Given the description of an element on the screen output the (x, y) to click on. 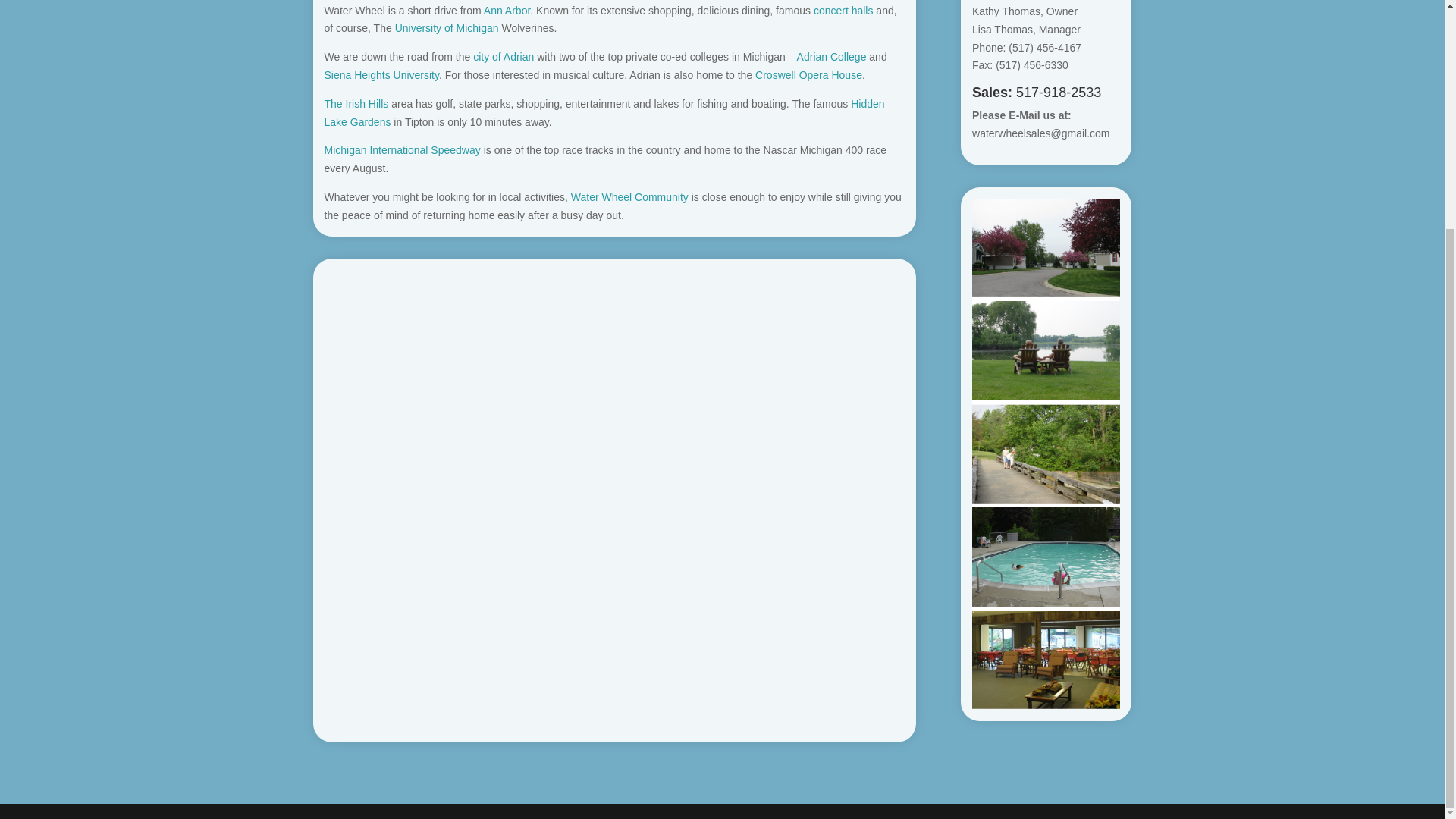
Siena Heights University (381, 74)
Hidden Lake Gardens (604, 112)
Ann Arbor (507, 10)
Water Wheel Community (629, 196)
517-918-2533 (1058, 92)
Adrian College (831, 56)
Michigan International Speedway (402, 150)
Croswell Opera House (808, 74)
The Irish Hills (356, 103)
University of Michigan (446, 28)
concert halls (843, 10)
city of Adrian (503, 56)
